Given the description of an element on the screen output the (x, y) to click on. 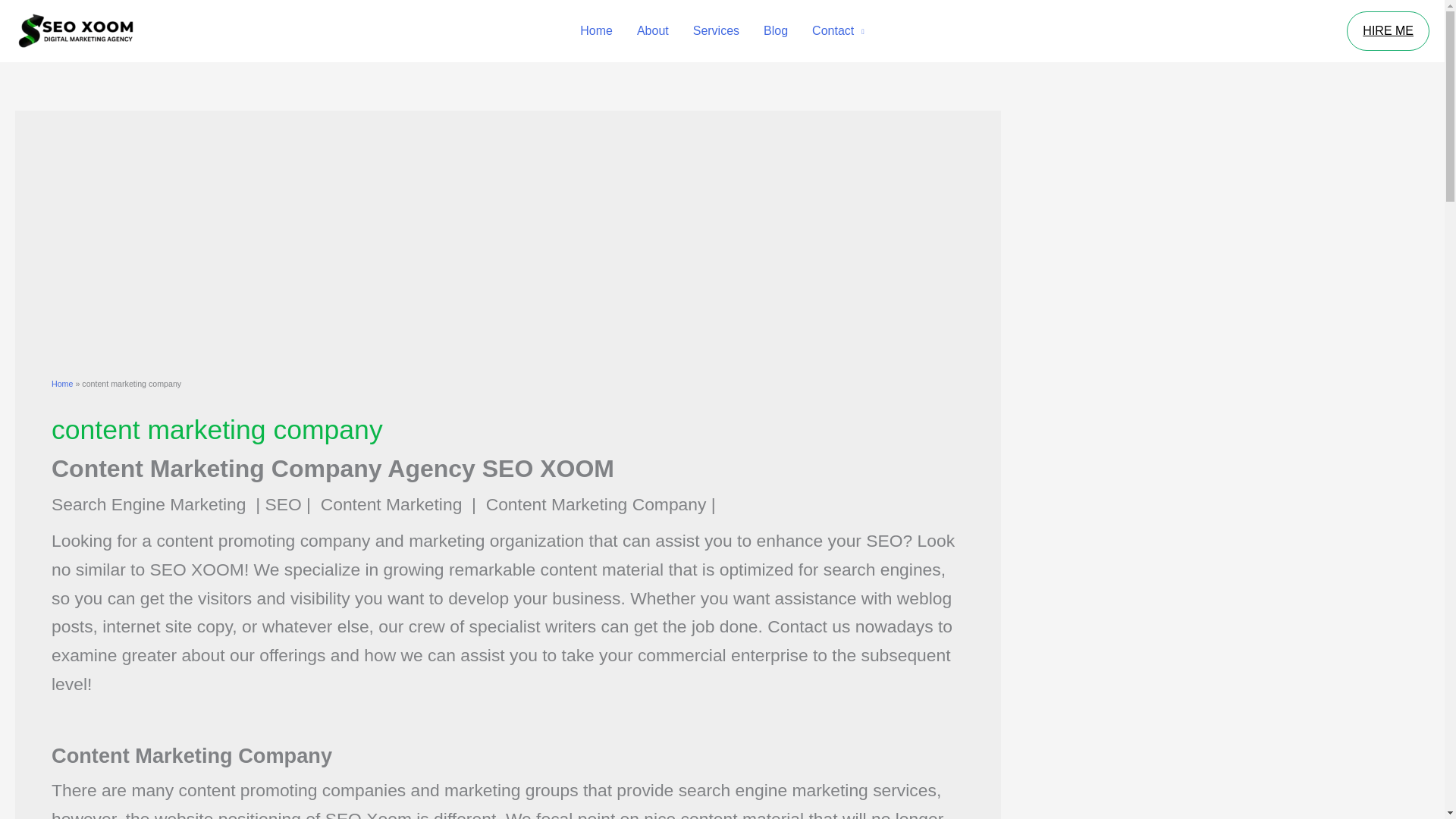
About (652, 30)
Home (595, 30)
HIRE ME (1387, 30)
Blog (775, 30)
Contact (837, 30)
Home (61, 383)
Services (716, 30)
